Given the description of an element on the screen output the (x, y) to click on. 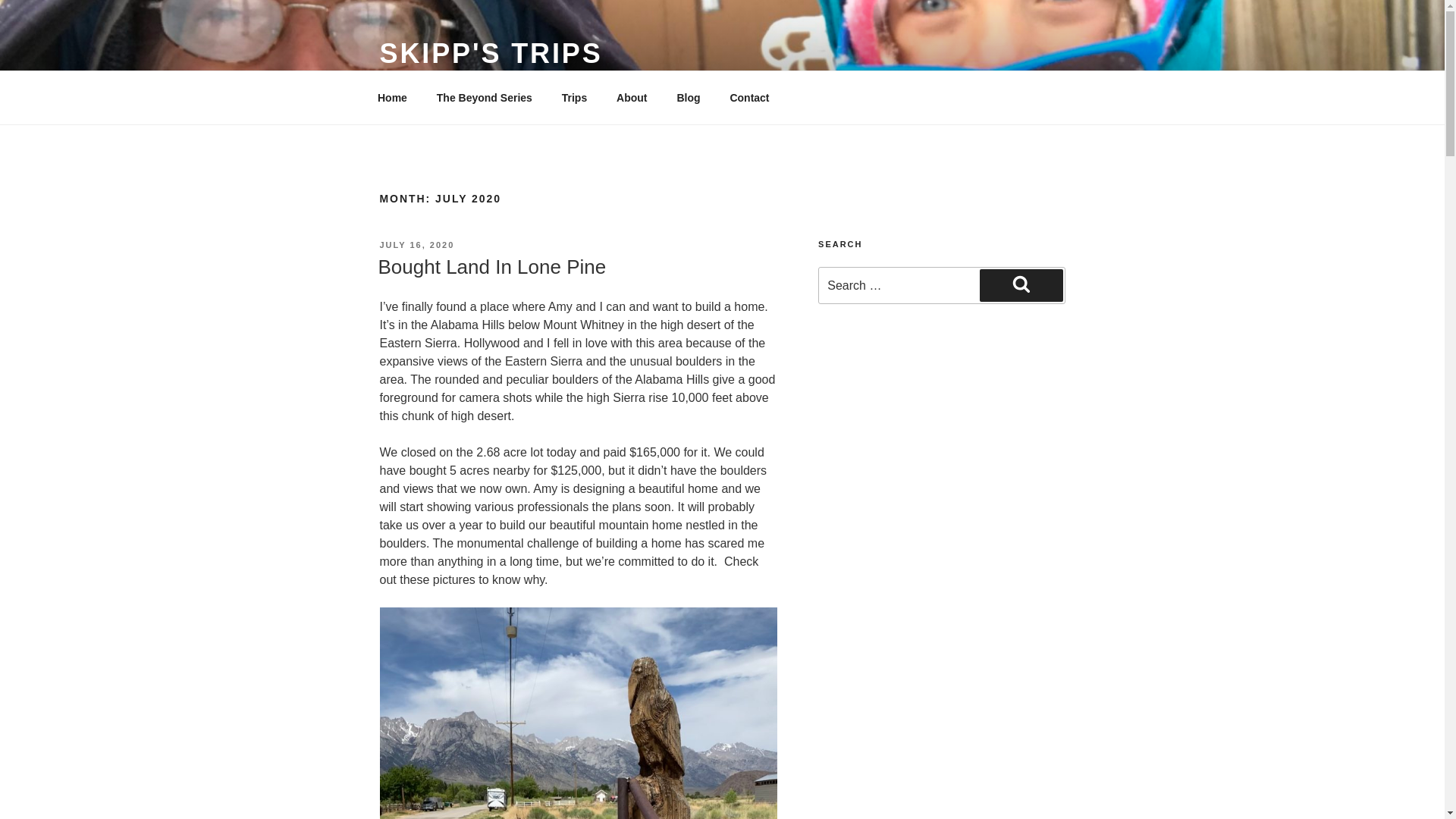
SKIPP'S TRIPS (490, 52)
JULY 16, 2020 (416, 244)
The Beyond Series (483, 97)
Home (392, 97)
Bought Land In Lone Pine (491, 266)
Search (1020, 285)
About (632, 97)
Trips (573, 97)
Contact (749, 97)
Blog (688, 97)
